Given the description of an element on the screen output the (x, y) to click on. 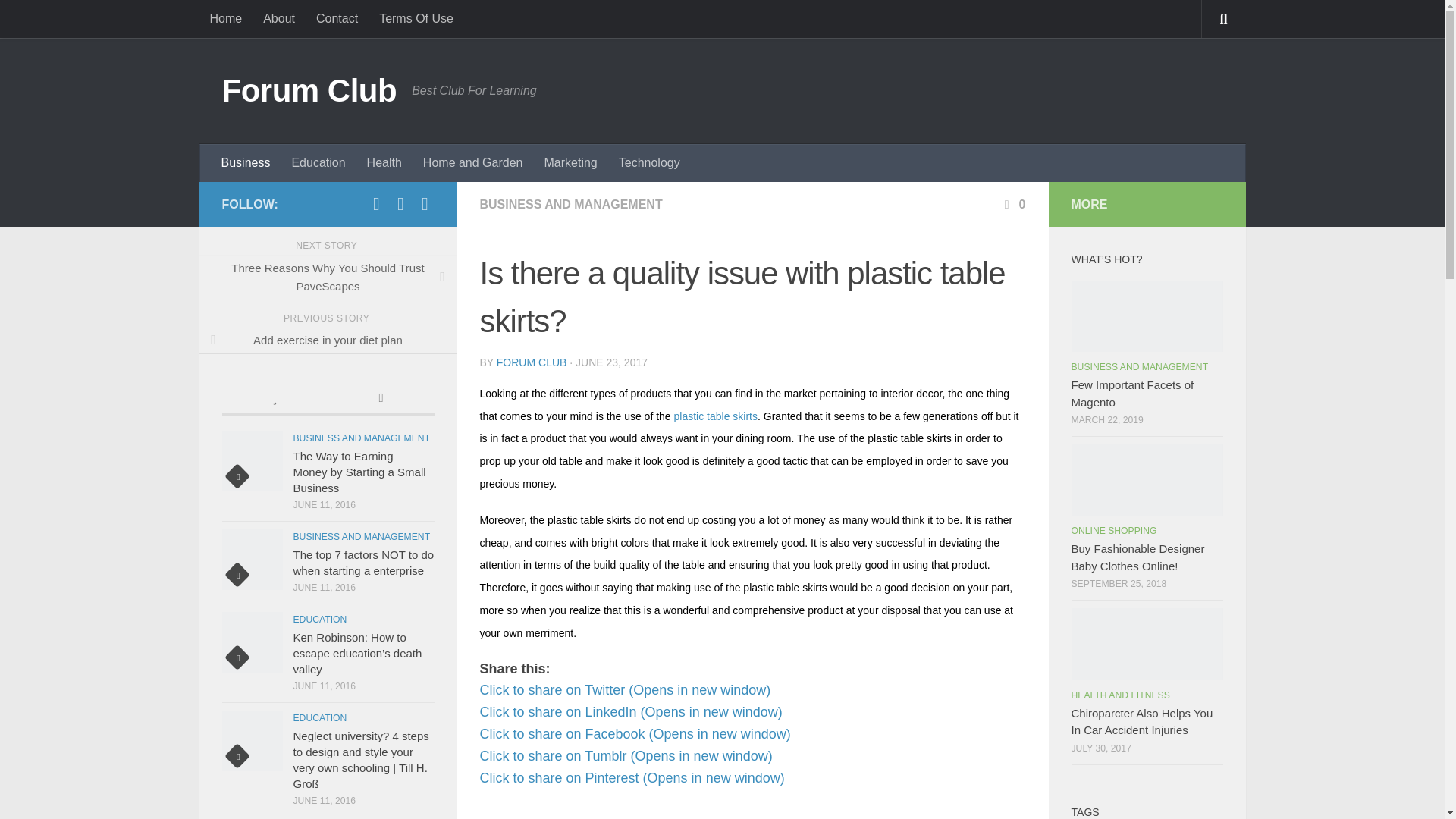
Contact (336, 18)
Click to share on Tumblr (625, 755)
Click to share on Facebook (634, 734)
0 (1013, 204)
plastic table skirts (715, 416)
Posts by Forum Club (531, 362)
BUSINESS AND MANAGEMENT (570, 204)
Marketing (569, 162)
Click to share on Twitter (624, 689)
Follow us on Twitter (375, 203)
